Given the description of an element on the screen output the (x, y) to click on. 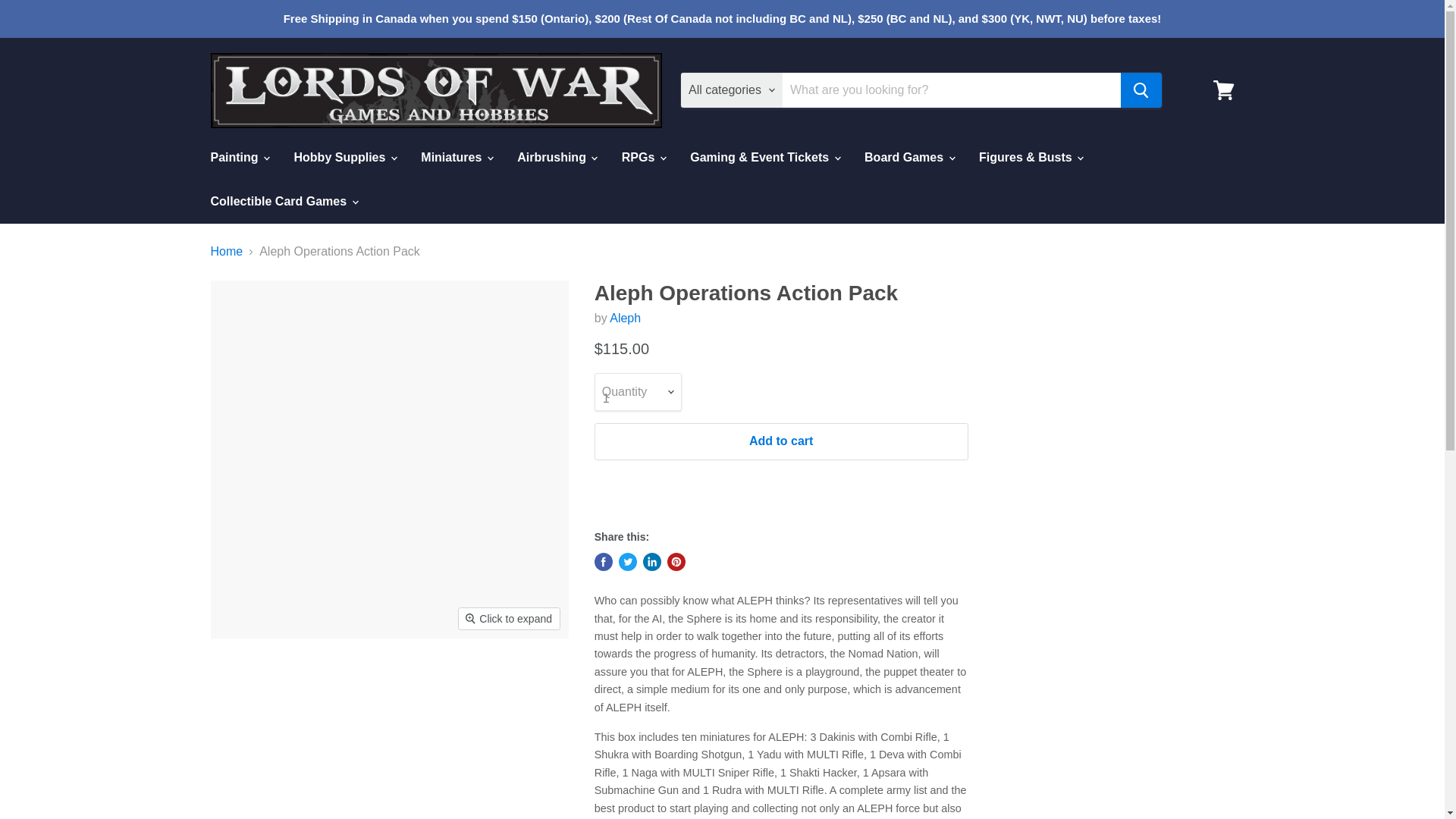
View cart (1223, 89)
Painting (238, 157)
Aleph (625, 318)
